Given the description of an element on the screen output the (x, y) to click on. 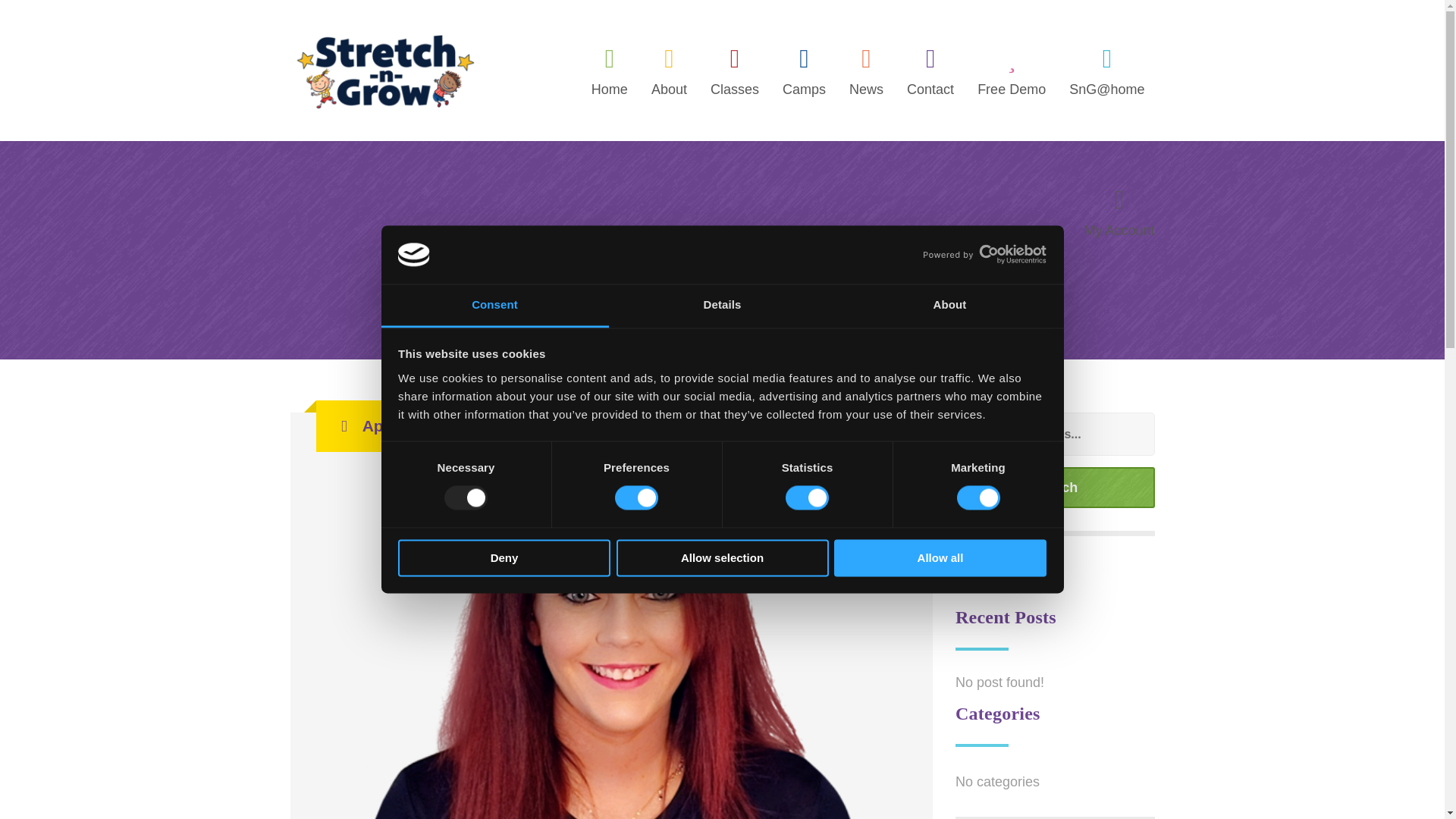
Deny (503, 557)
Consent (494, 305)
About (948, 305)
Details (721, 305)
Search (1054, 486)
